Given the description of an element on the screen output the (x, y) to click on. 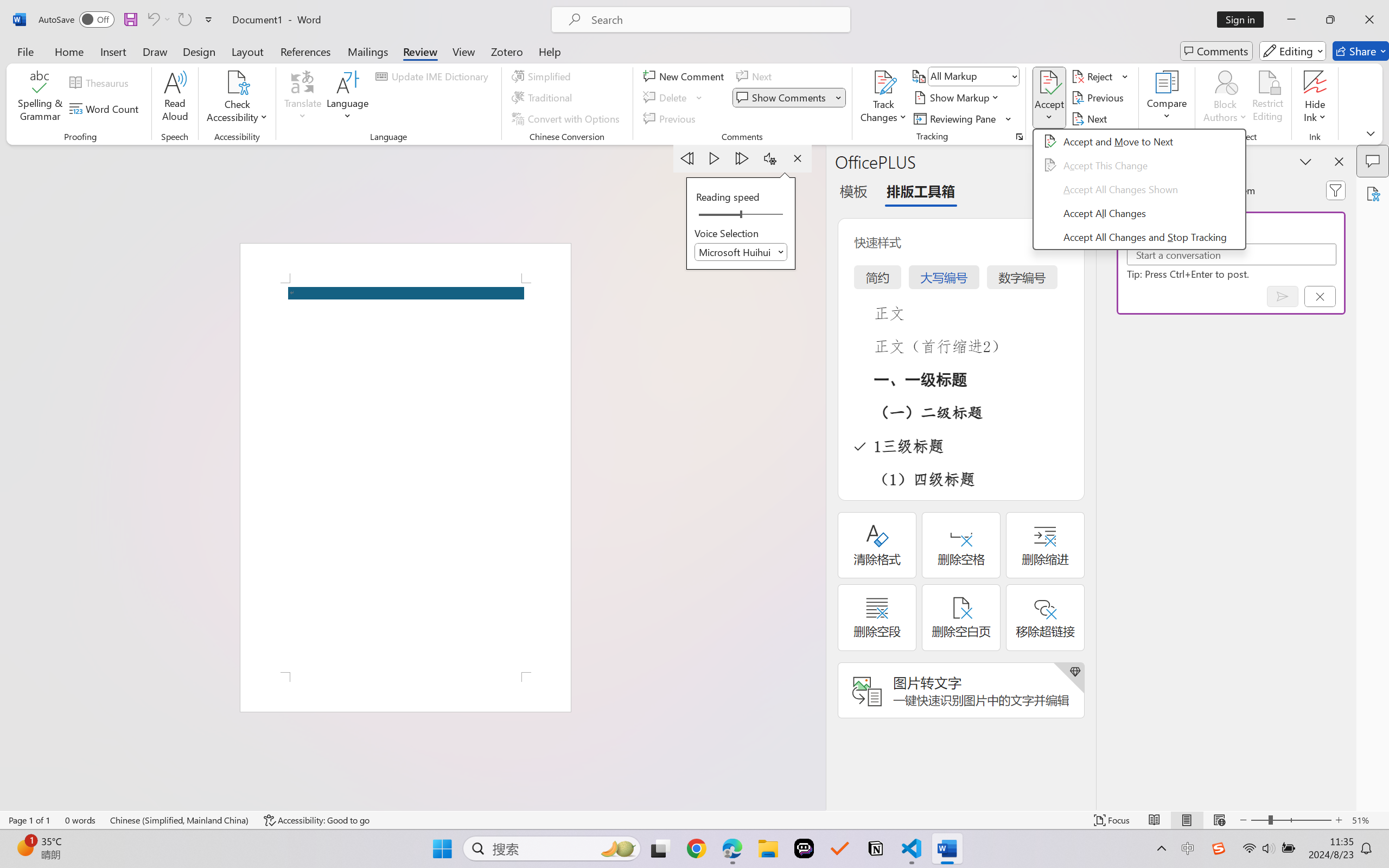
New Comment (685, 75)
Hide Ink (1315, 97)
Accessibility Assistant (1373, 193)
Convert with Options... (567, 118)
Filter (1335, 190)
Check Accessibility (237, 97)
Language (347, 97)
Reviewing Pane (962, 118)
